Given the description of an element on the screen output the (x, y) to click on. 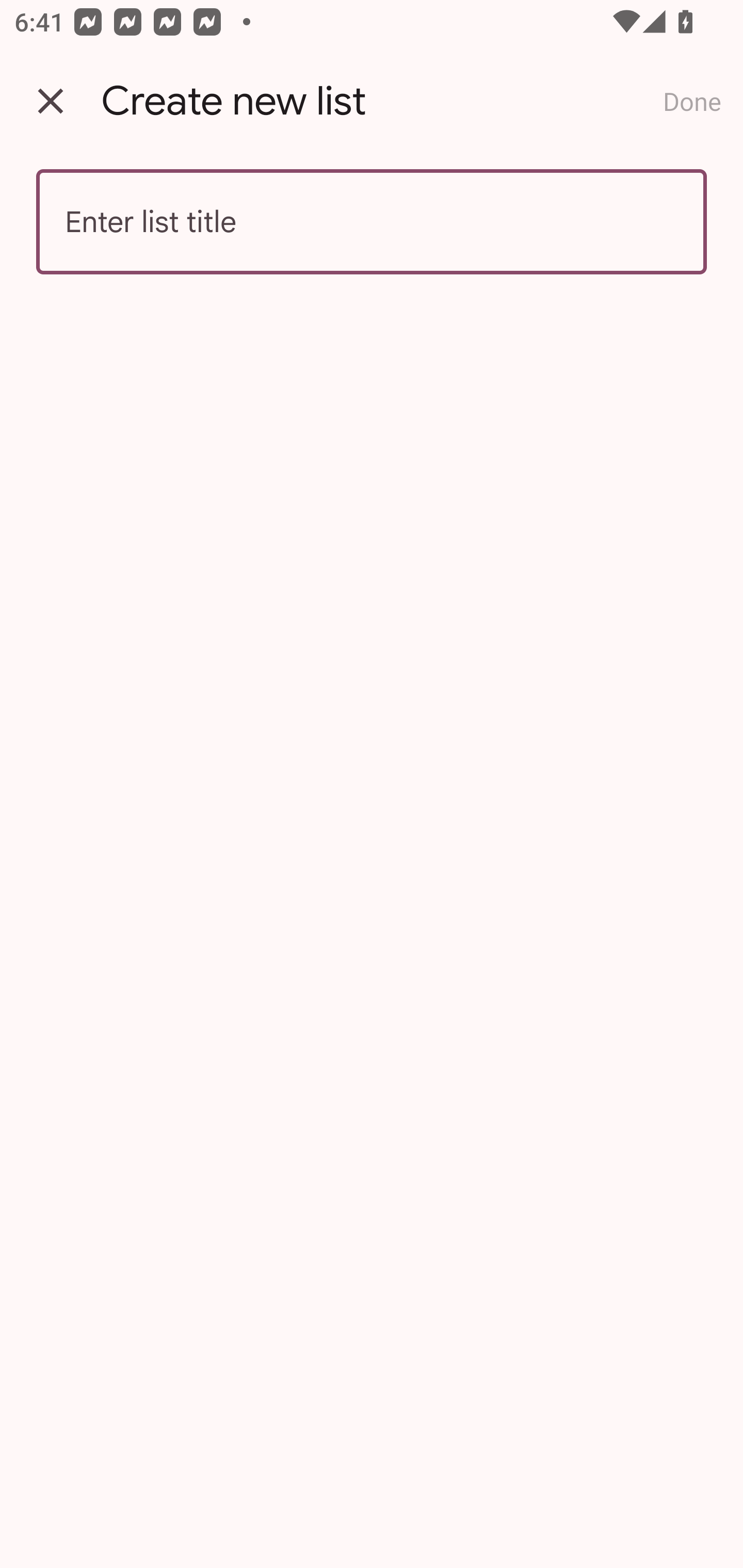
Back (50, 101)
Done (692, 101)
Enter list title (371, 221)
